Given the description of an element on the screen output the (x, y) to click on. 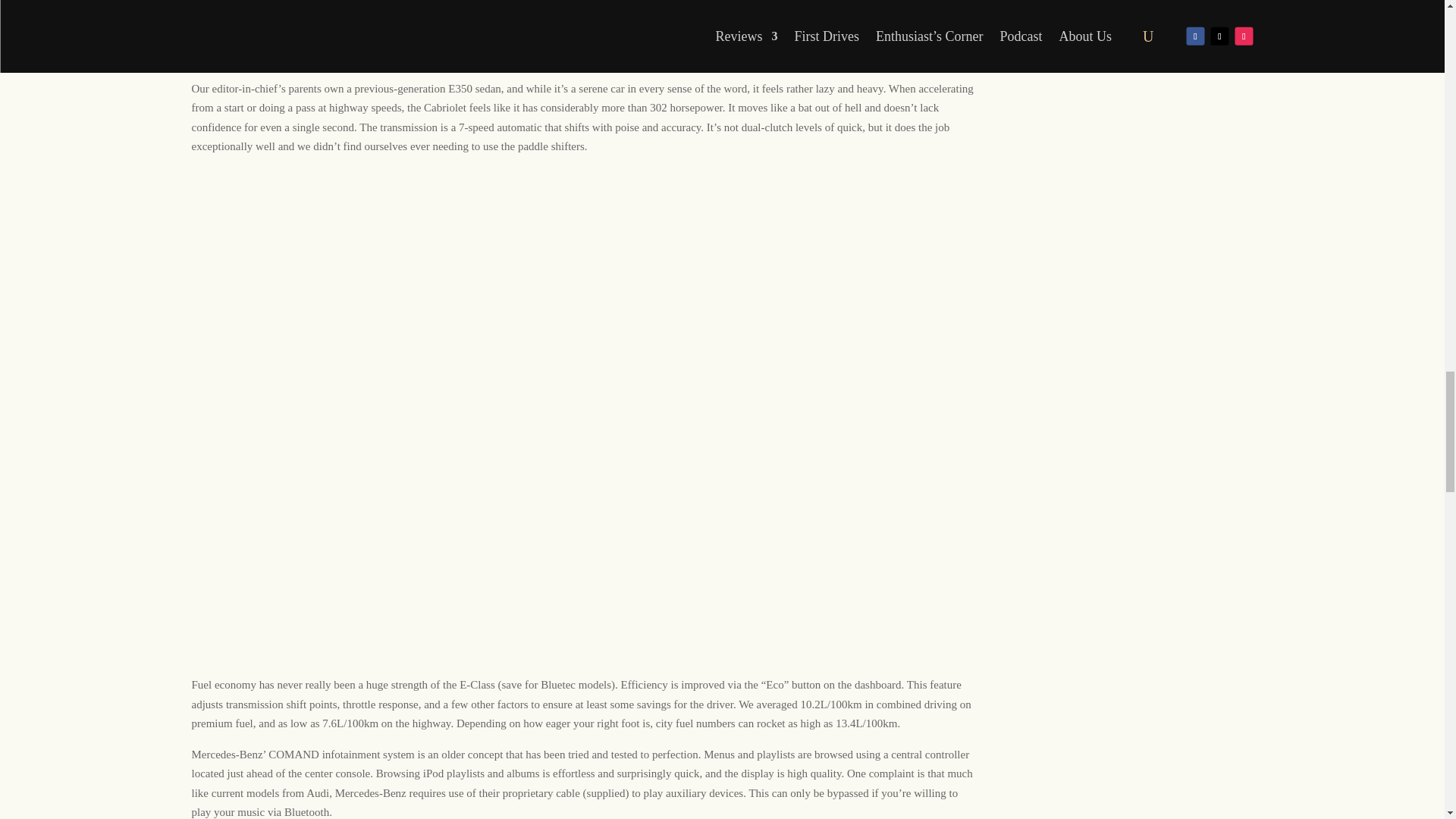
2014 Mercedes-Benz CLA45 AMG (853, 38)
2014 BMW 428i Cabriolet (661, 2)
2014 Audi RS5 Cabriolet (532, 2)
